Given the description of an element on the screen output the (x, y) to click on. 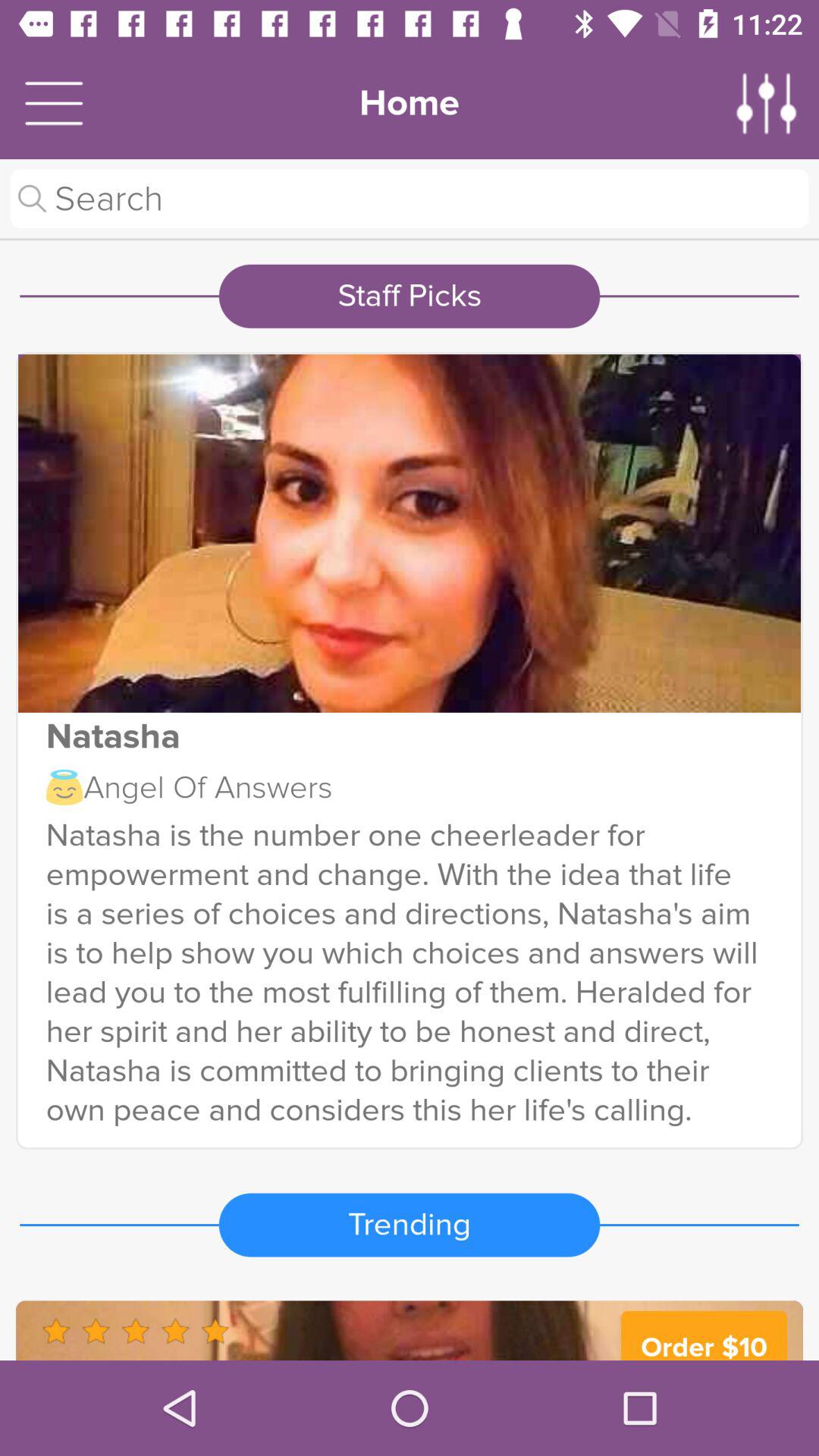
go to advertiser (409, 1330)
